Given the description of an element on the screen output the (x, y) to click on. 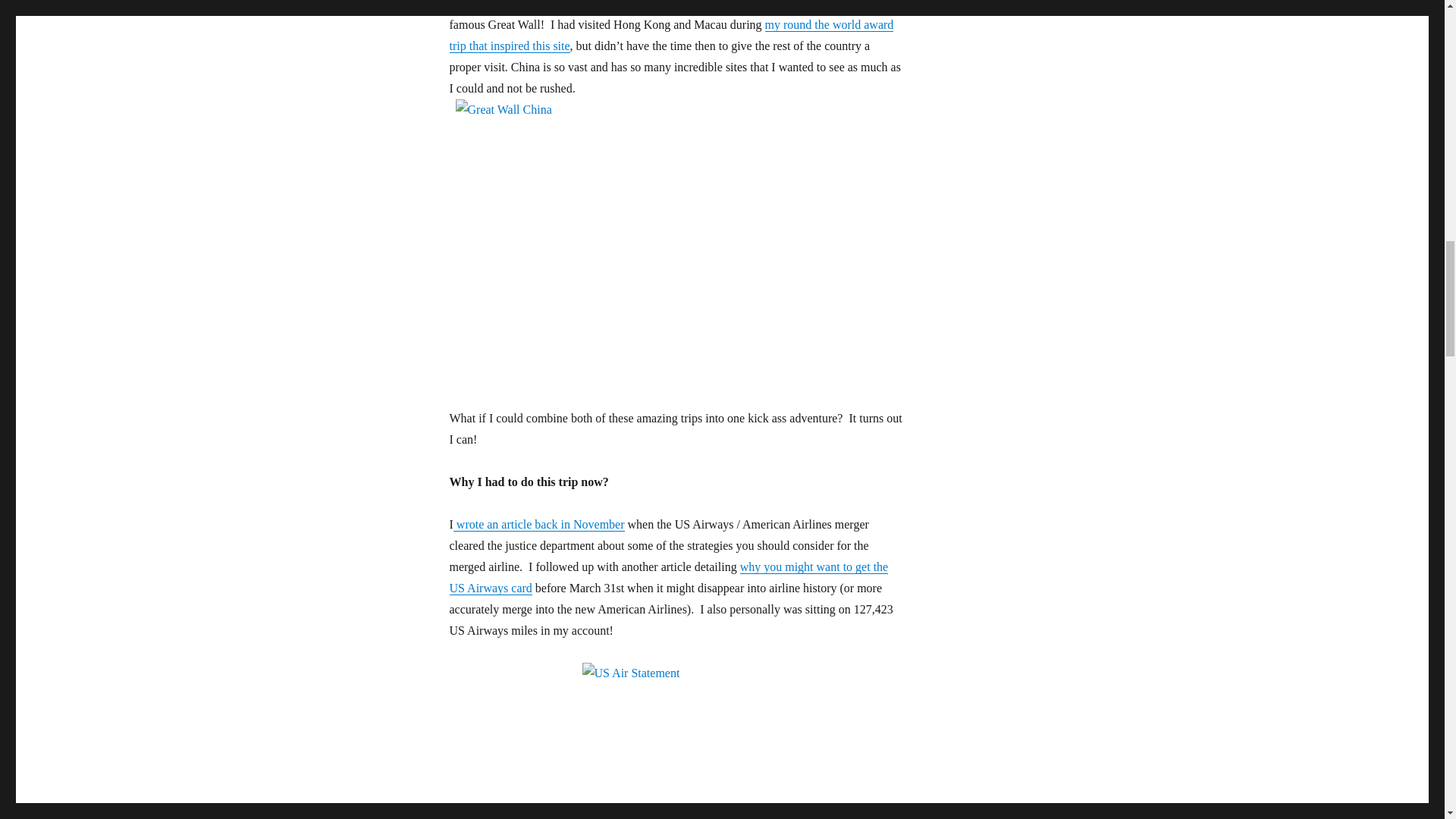
 wrote an article back in November (538, 523)
why you might want to get the US Airways card (668, 577)
my round the world award trip that inspired this site (670, 35)
About me (670, 35)
